Given the description of an element on the screen output the (x, y) to click on. 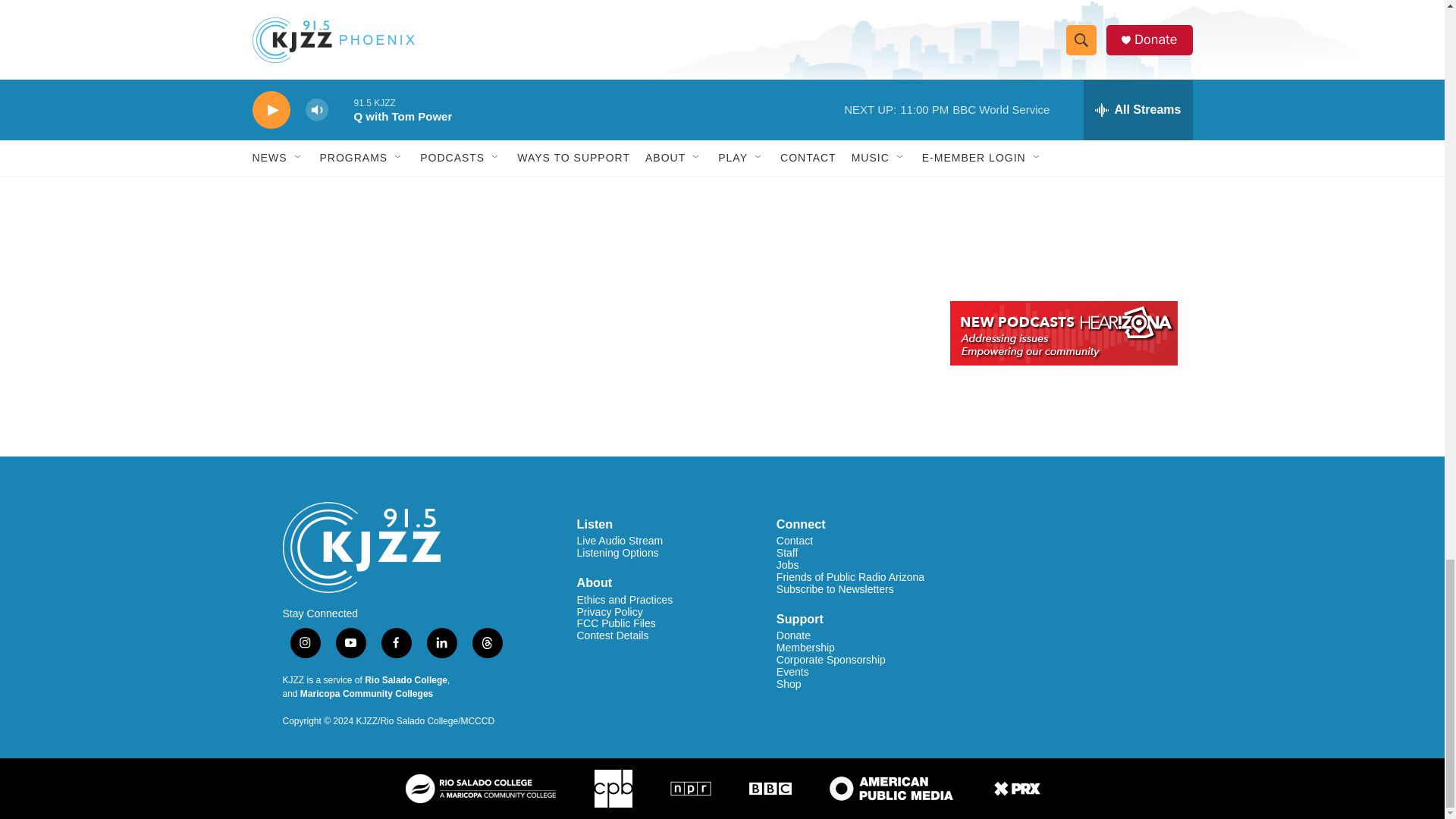
3rd party ad content (1062, 176)
